Given the description of an element on the screen output the (x, y) to click on. 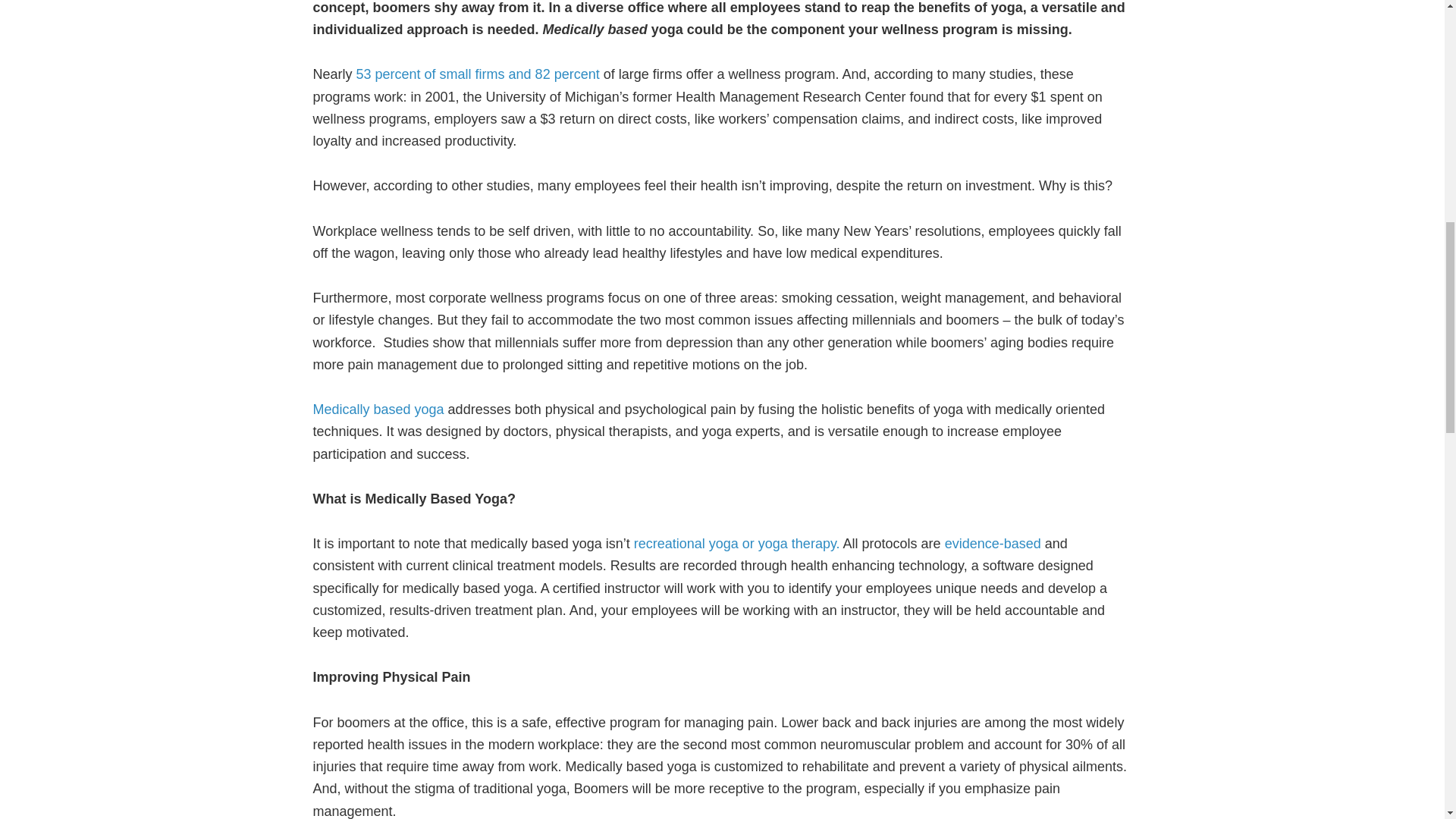
53 percent of small firms and 82 percent (477, 73)
Medically based yoga (378, 409)
recreational yoga or yoga therapy. (736, 543)
evidence-based (992, 543)
